Given the description of an element on the screen output the (x, y) to click on. 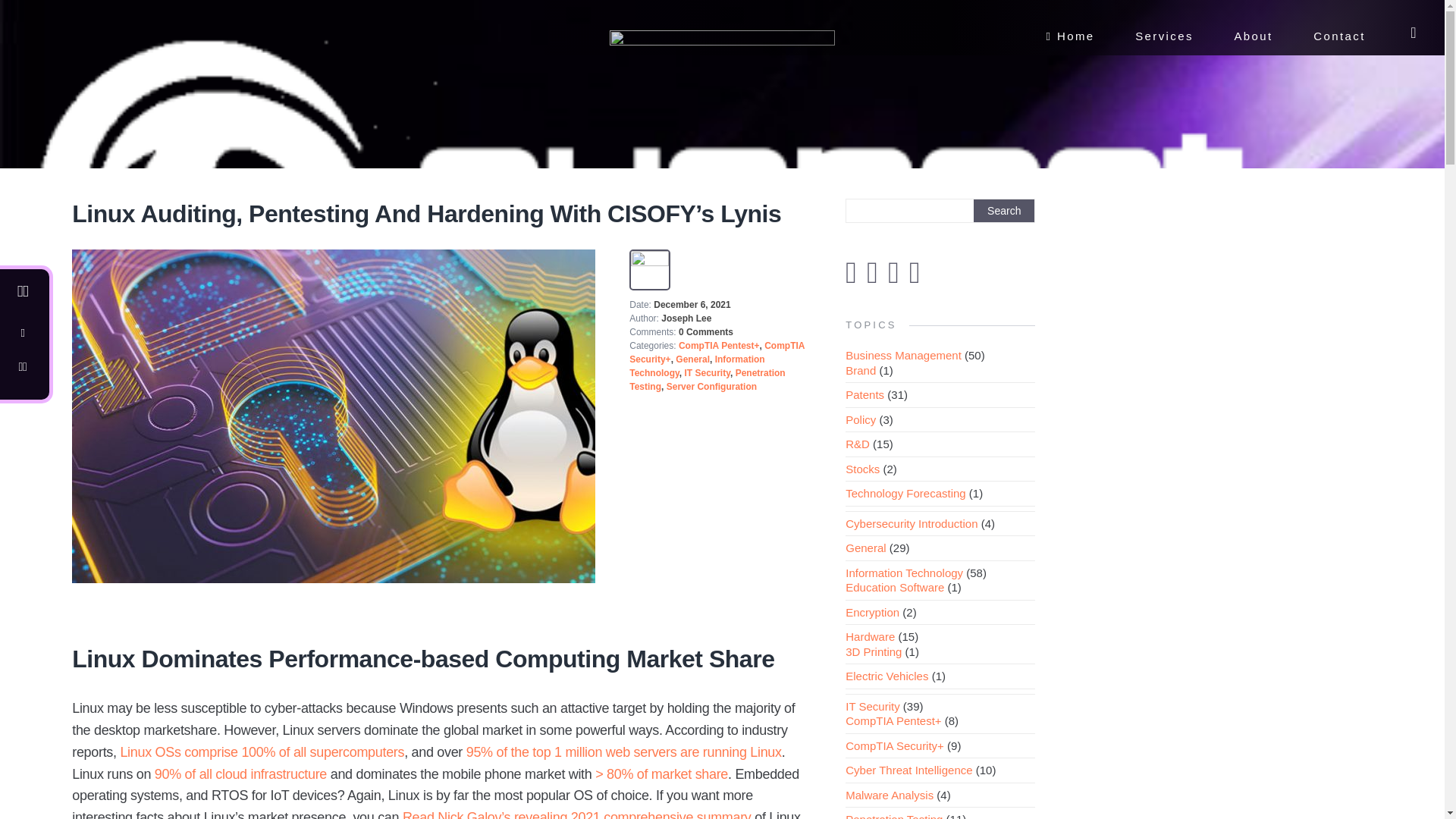
Search (1003, 210)
Joseph Lee (686, 317)
Home (1069, 40)
Server Configuration (711, 386)
Penetration Testing (706, 379)
Services (1164, 40)
Information Technology (696, 365)
Contact (1339, 40)
About (1253, 40)
IT Security (706, 372)
General (692, 358)
